Given the description of an element on the screen output the (x, y) to click on. 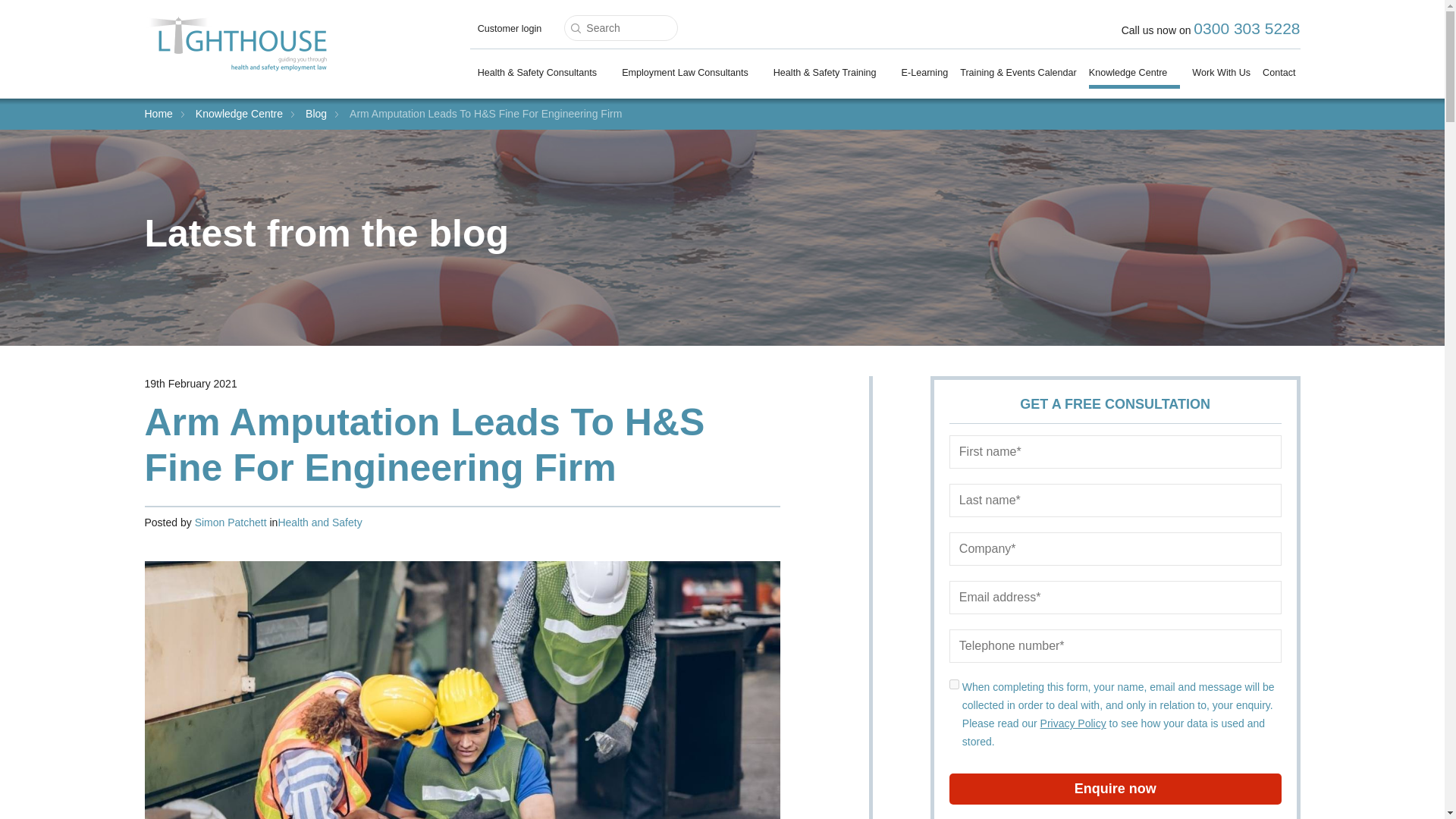
E-Learning (925, 76)
Privacy Policy (1073, 723)
Health and Safety (319, 522)
Contact (1278, 76)
Knowledge Centre (1134, 77)
0300 303 5228 (1246, 27)
Enquire now (1115, 788)
1 (954, 684)
Customer login (509, 31)
Knowledge Centre (238, 113)
Work With Us (1221, 76)
Employment Law Consultants (691, 76)
Simon Patchett (230, 522)
Enquire now (1115, 788)
Blog (315, 113)
